Given the description of an element on the screen output the (x, y) to click on. 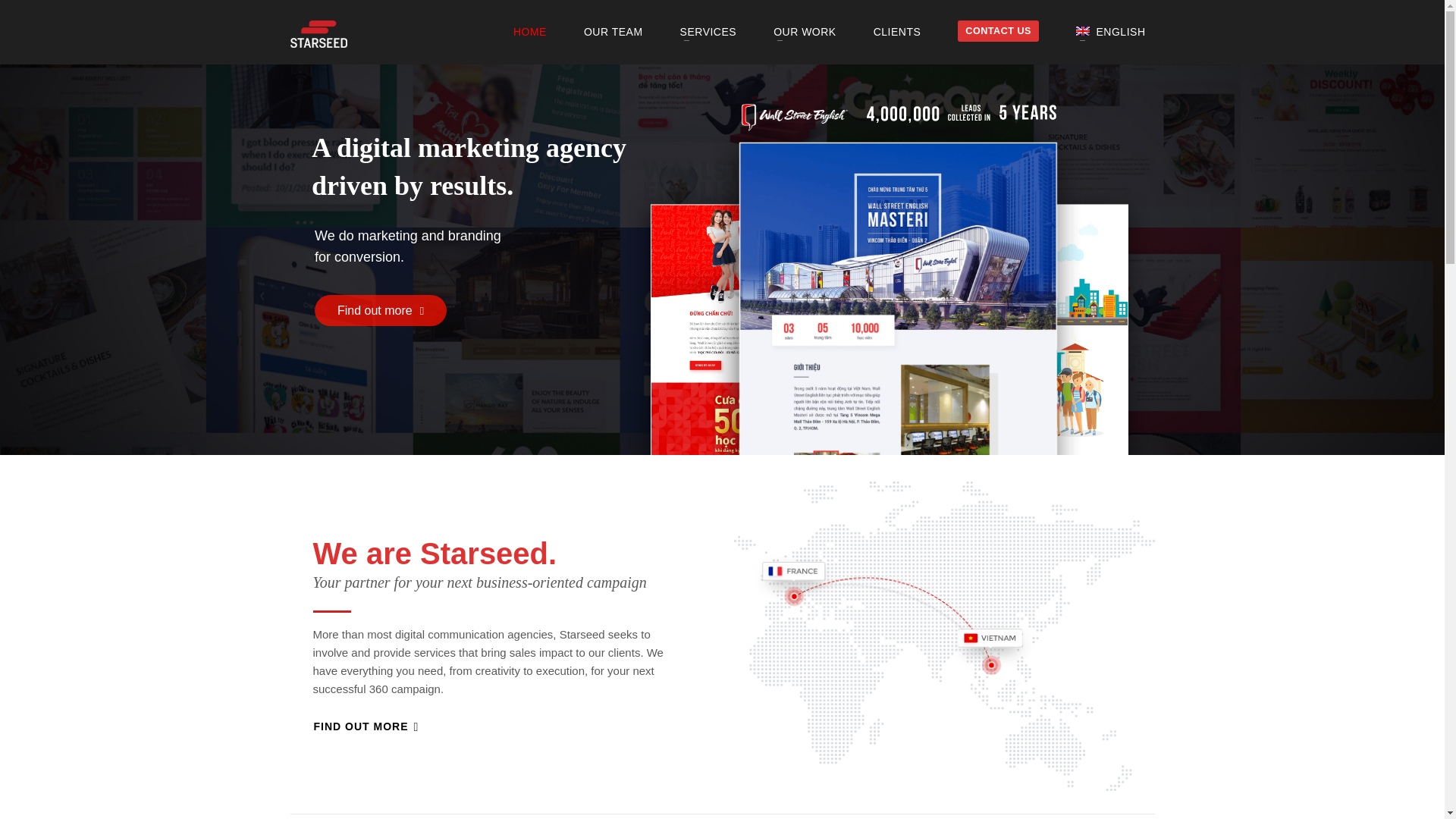
 English (1110, 31)
SERVICES (708, 31)
map (943, 636)
Click me (366, 727)
HOME (529, 31)
OUR WORK (804, 31)
A Full Services Digital Agency (317, 33)
OUR TEAM (613, 31)
